Given the description of an element on the screen output the (x, y) to click on. 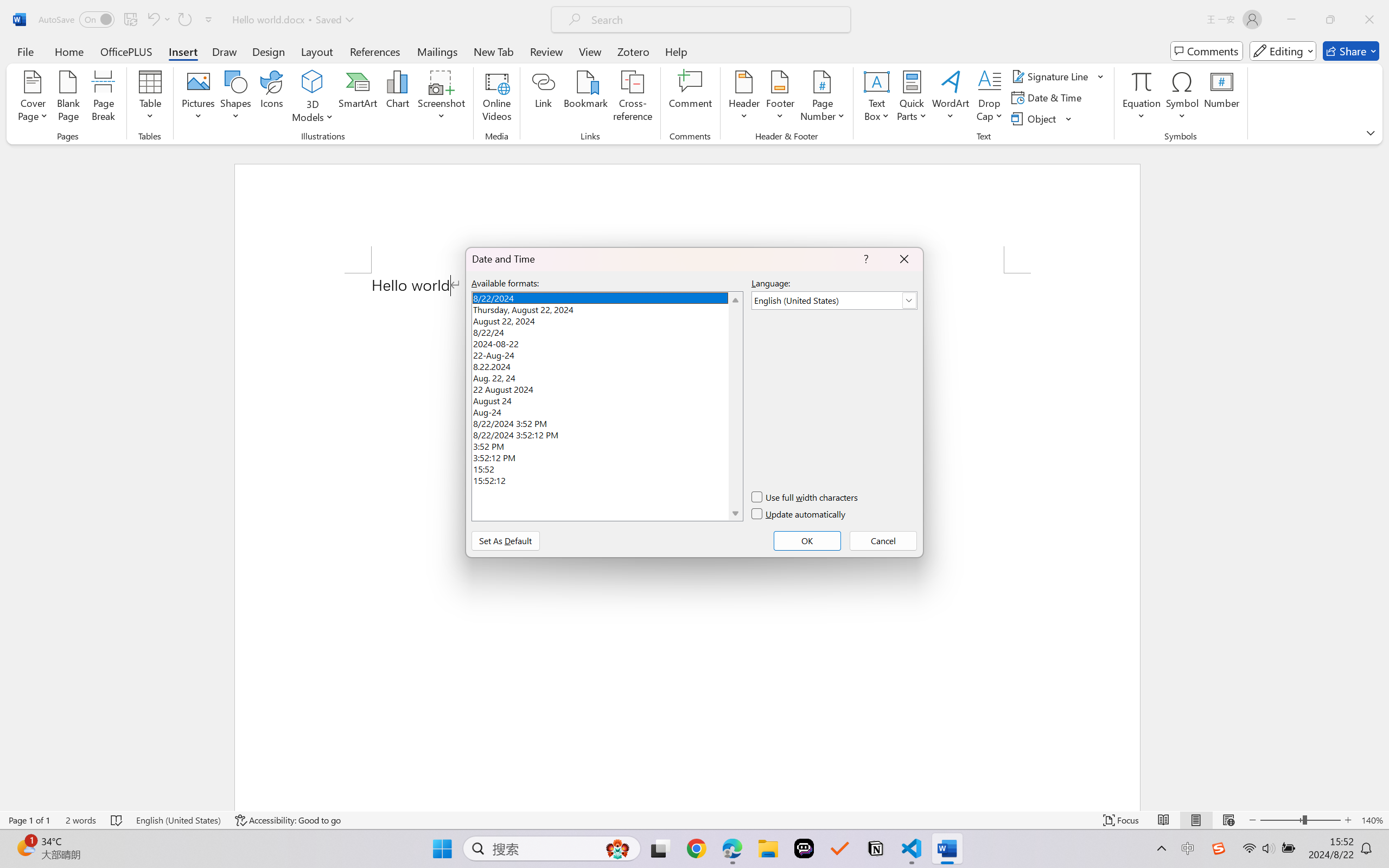
Show Comments (499, 62)
Accessibility Checker Accessibility: Good to go (215, 837)
Accept Change (570, 51)
Simplified (242, 46)
Translate (167, 62)
End Review (677, 62)
Spelling... (16, 62)
